Given the description of an element on the screen output the (x, y) to click on. 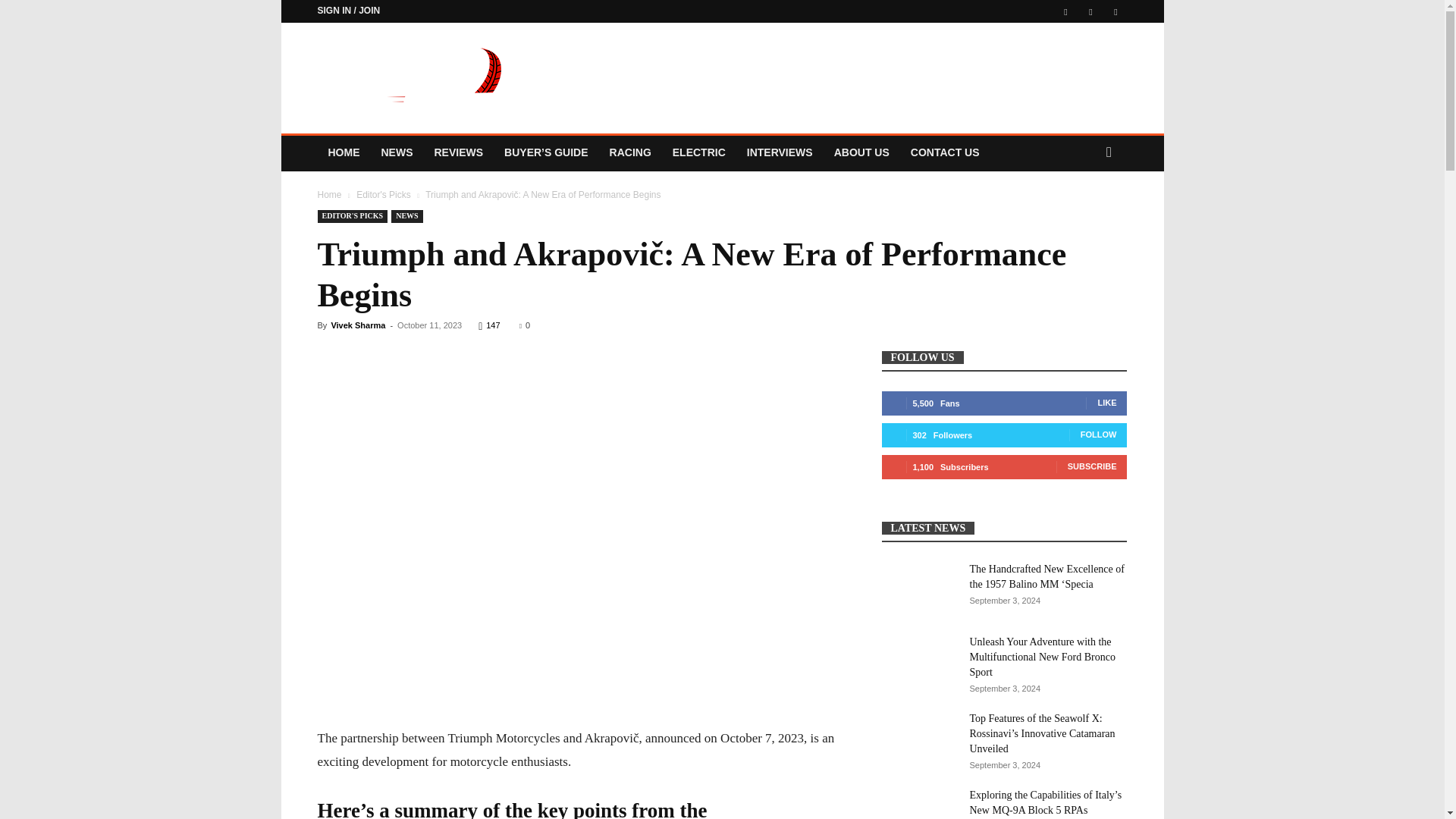
Twitter (1090, 11)
Facebook (1065, 11)
Youtube (1114, 11)
